Given the description of an element on the screen output the (x, y) to click on. 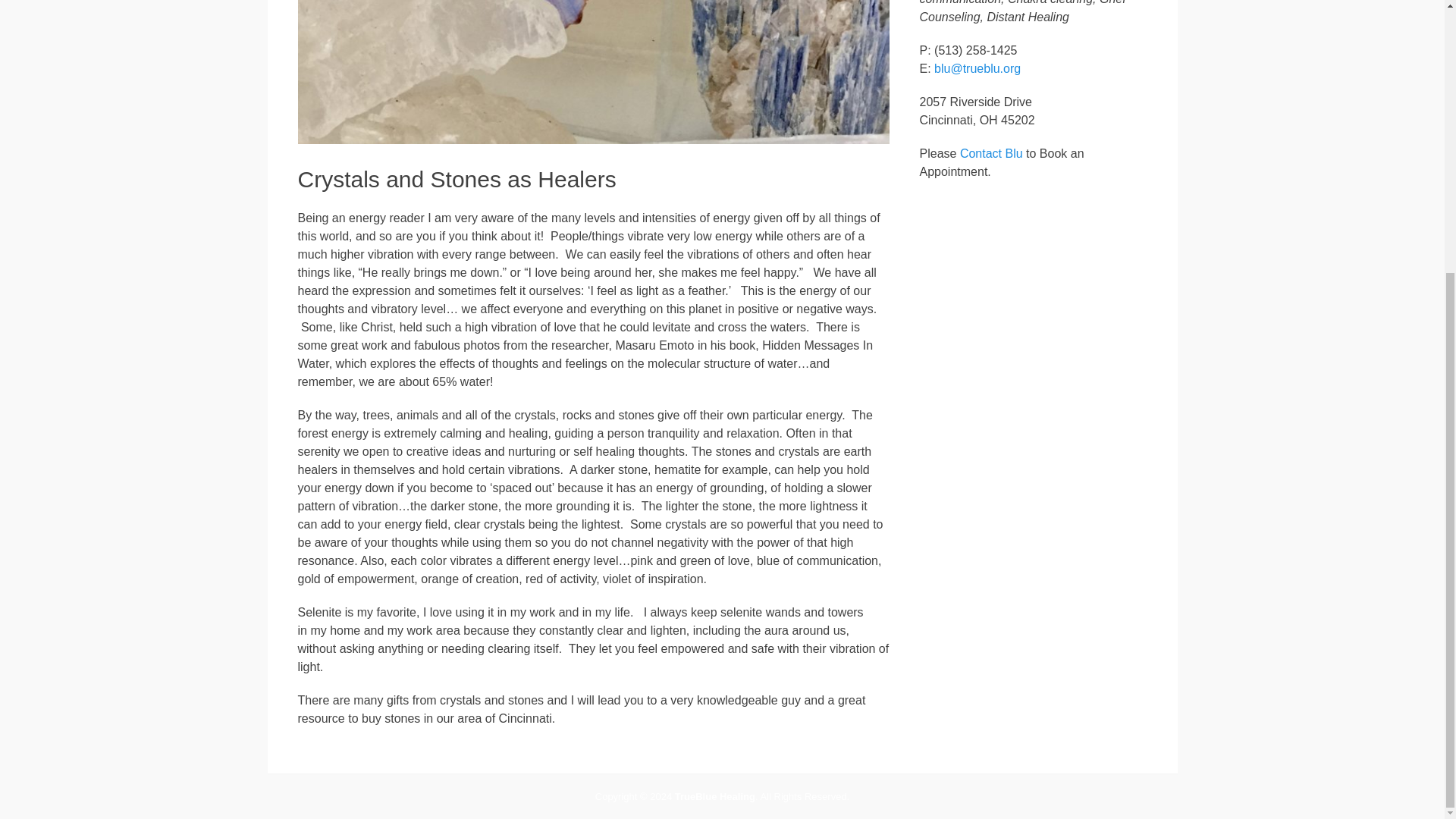
TrueBlue Healing (715, 796)
Contact Blu (991, 153)
